Given the description of an element on the screen output the (x, y) to click on. 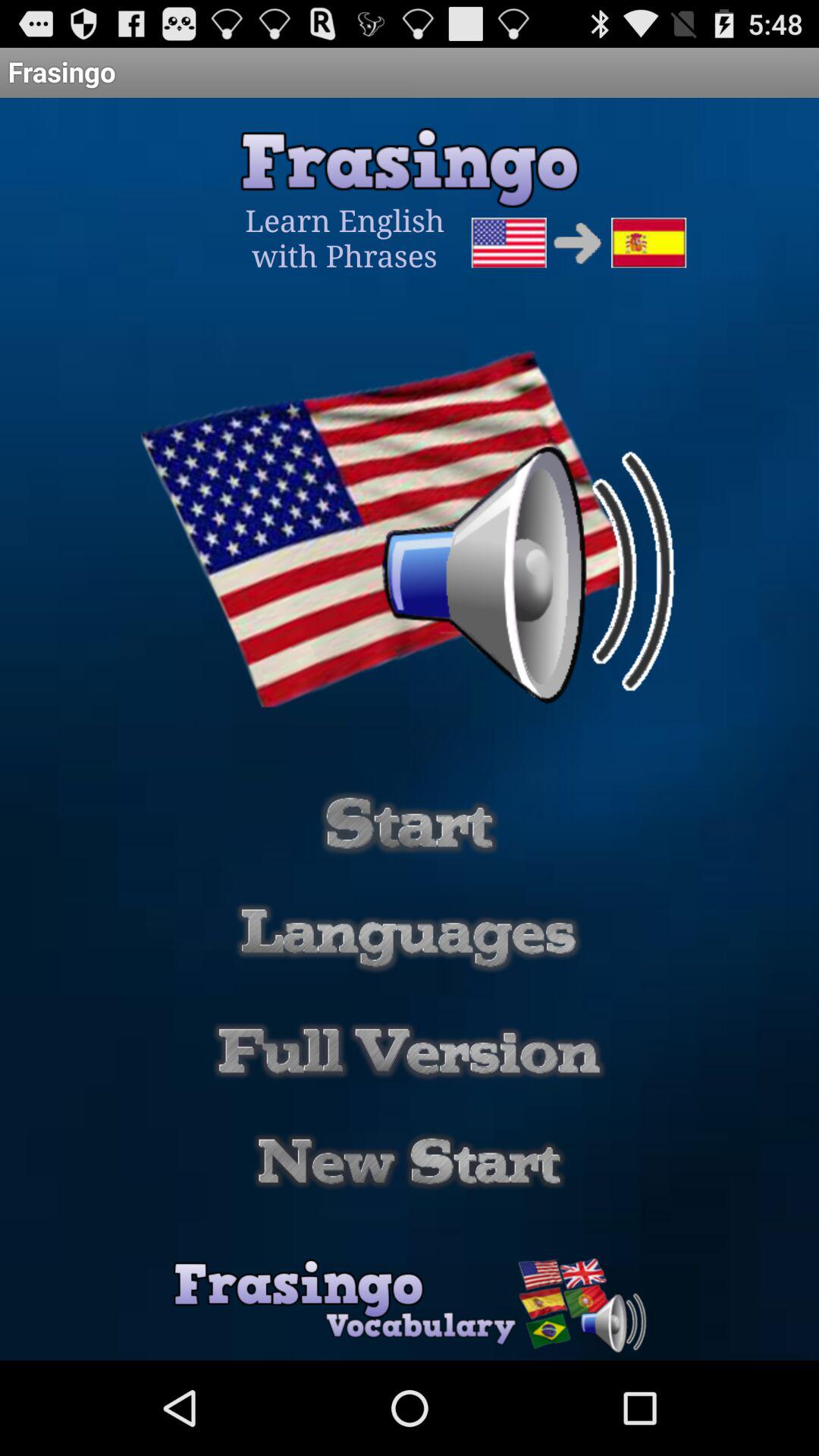
change language (408, 937)
